Given the description of an element on the screen output the (x, y) to click on. 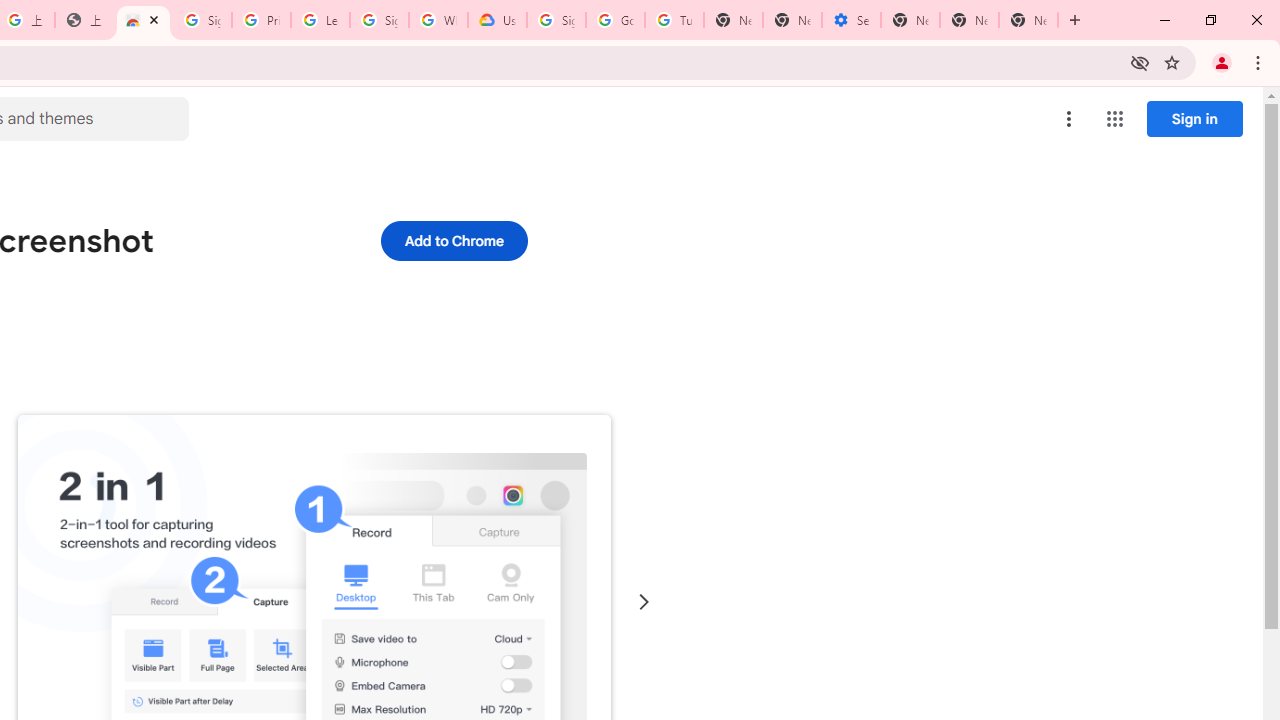
More options menu (1069, 118)
New Tab (1028, 20)
Google Account Help (615, 20)
Add to Chrome (453, 240)
Next slide (643, 601)
Sign in - Google Accounts (379, 20)
